Given the description of an element on the screen output the (x, y) to click on. 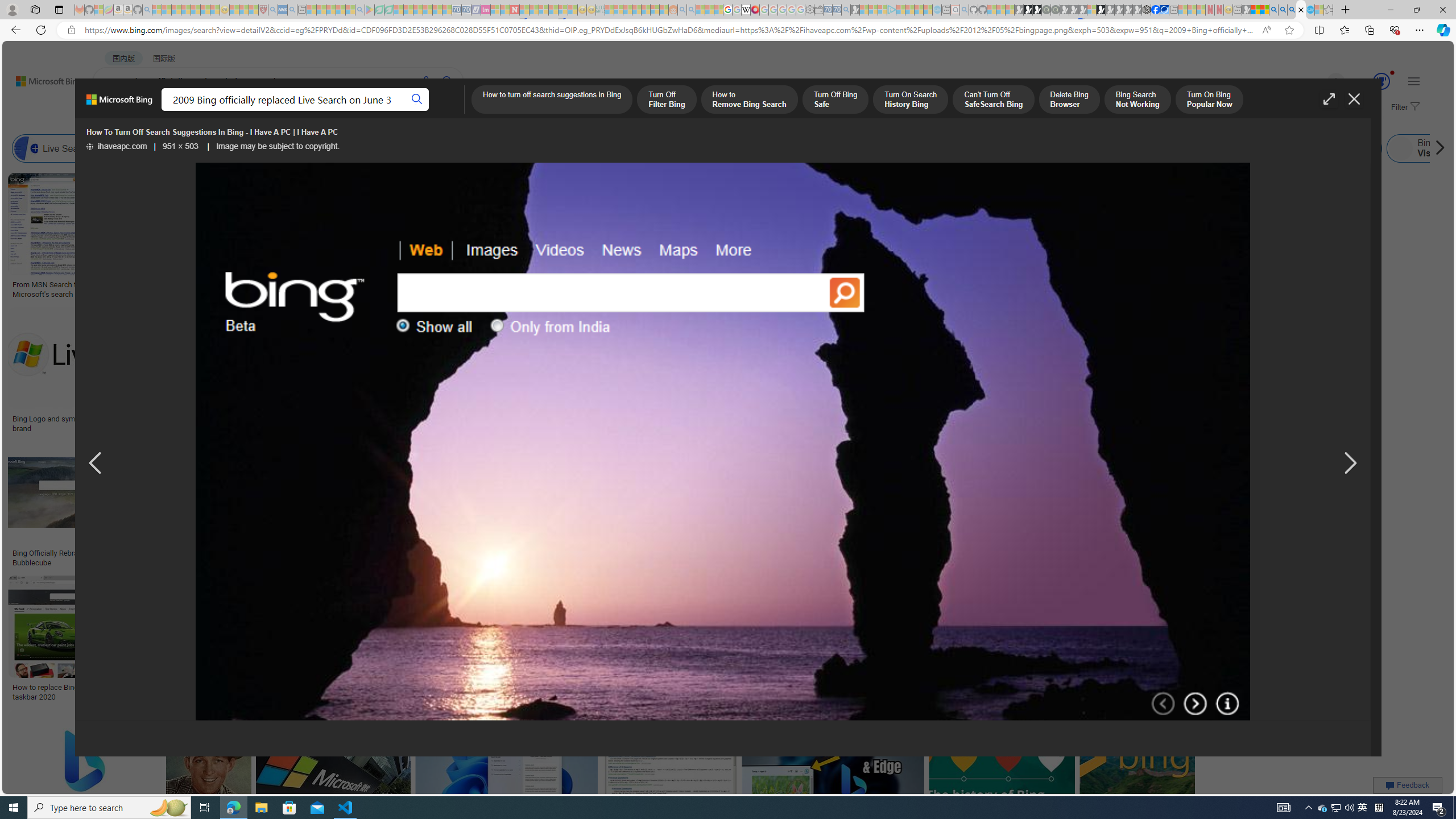
Microsoft Bing Search | Enfew (1162, 423)
Live Search (57, 148)
Bing Logo and symbol, meaning, history, PNG, brandSave (98, 371)
Delete Bing Browser (1068, 100)
Bing Best Search Engine (633, 148)
AutomationID: serp_medal_svg (1381, 81)
